Given the description of an element on the screen output the (x, y) to click on. 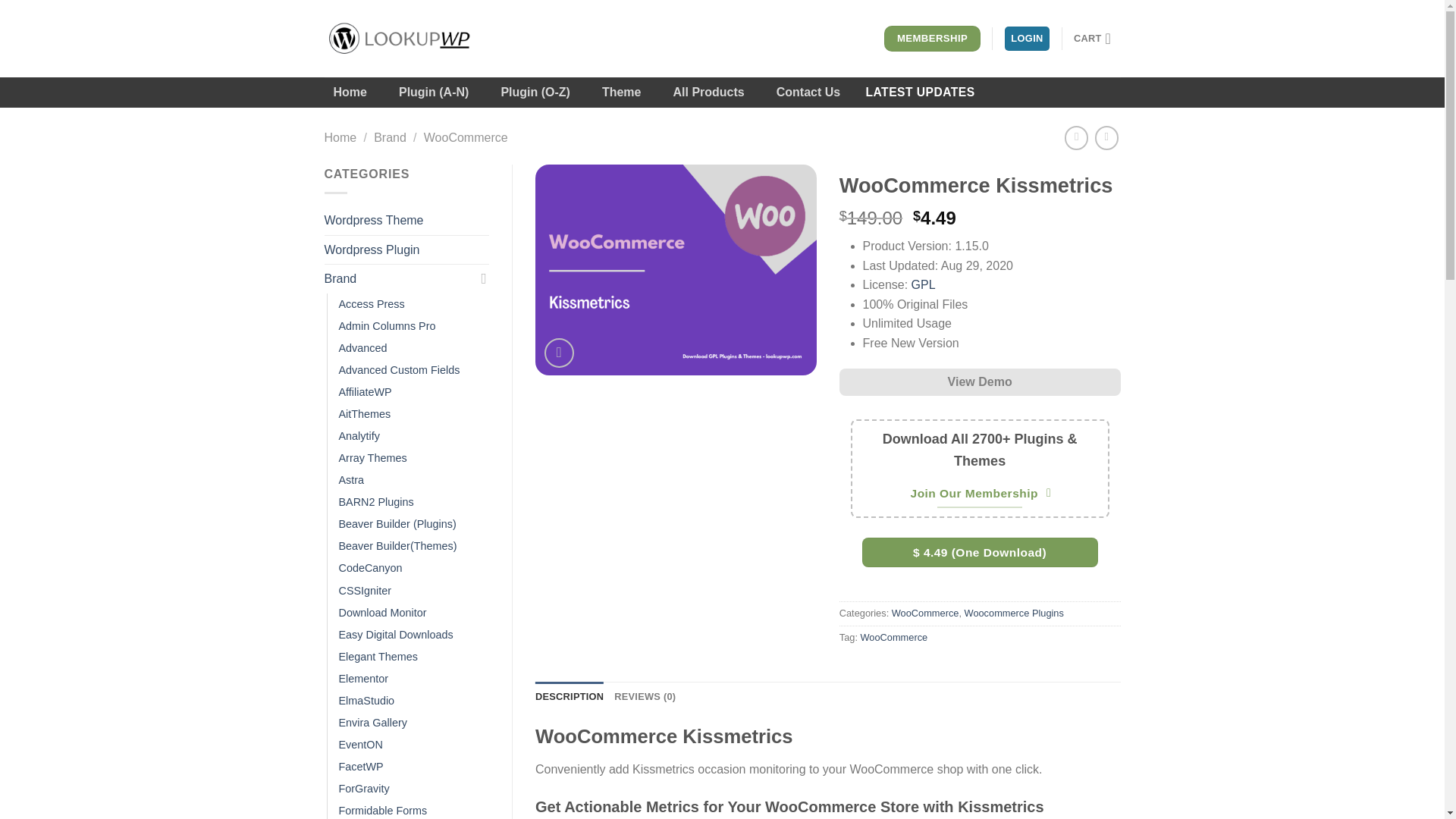
Array Themes (371, 458)
Advanced (362, 348)
LATEST UPDATES (919, 91)
Zoom (558, 352)
Access Press (370, 304)
LOGIN (1026, 38)
AitThemes (363, 414)
Wordpress Plugin (406, 249)
WooCommerce (465, 137)
All Products (707, 91)
Download Monitor (381, 612)
Wordpress Theme (406, 220)
Brand (399, 278)
CART (1097, 38)
Theme (621, 91)
